Given the description of an element on the screen output the (x, y) to click on. 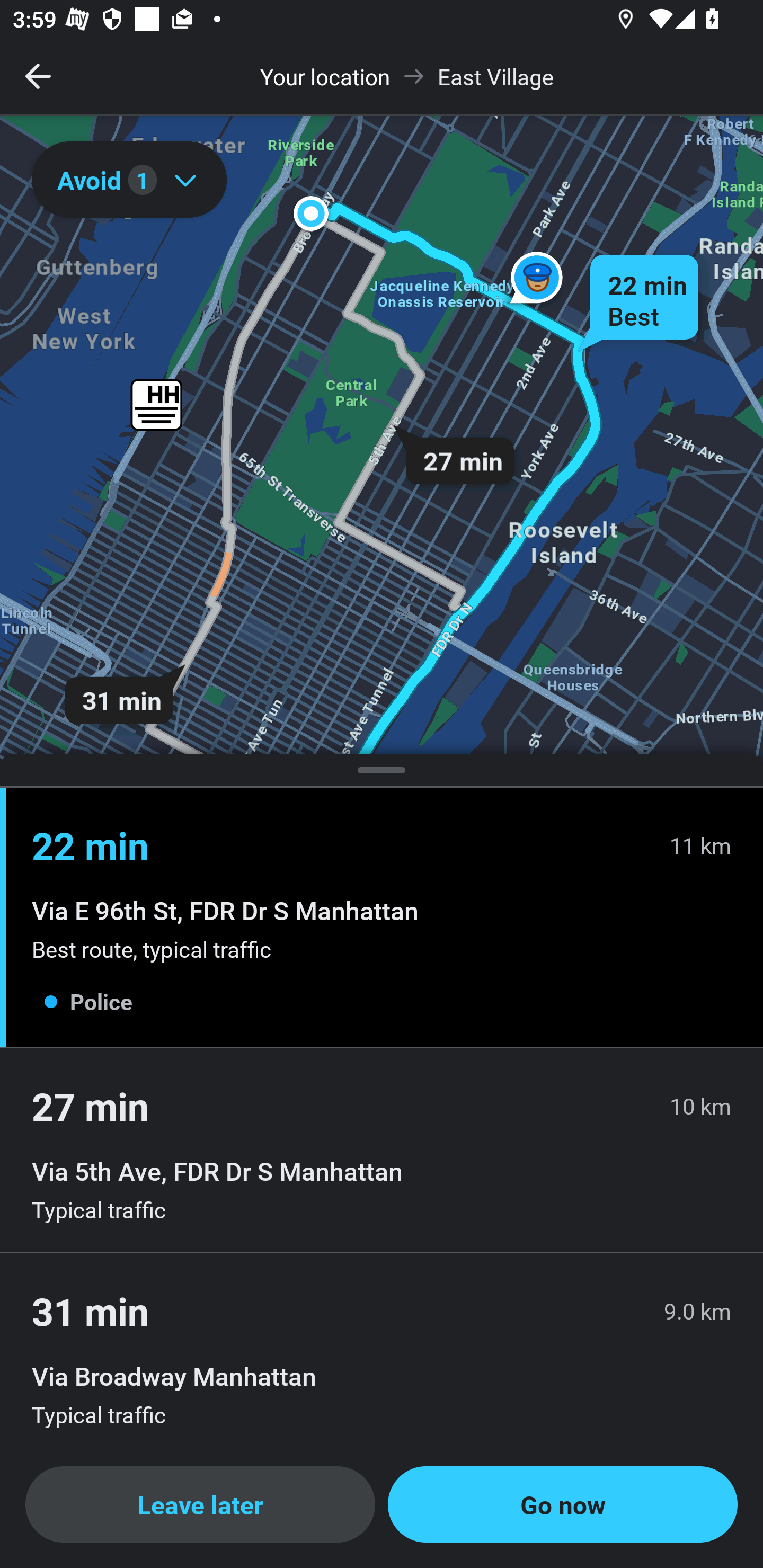
Leave later (200, 1504)
Go now (562, 1504)
